Given the description of an element on the screen output the (x, y) to click on. 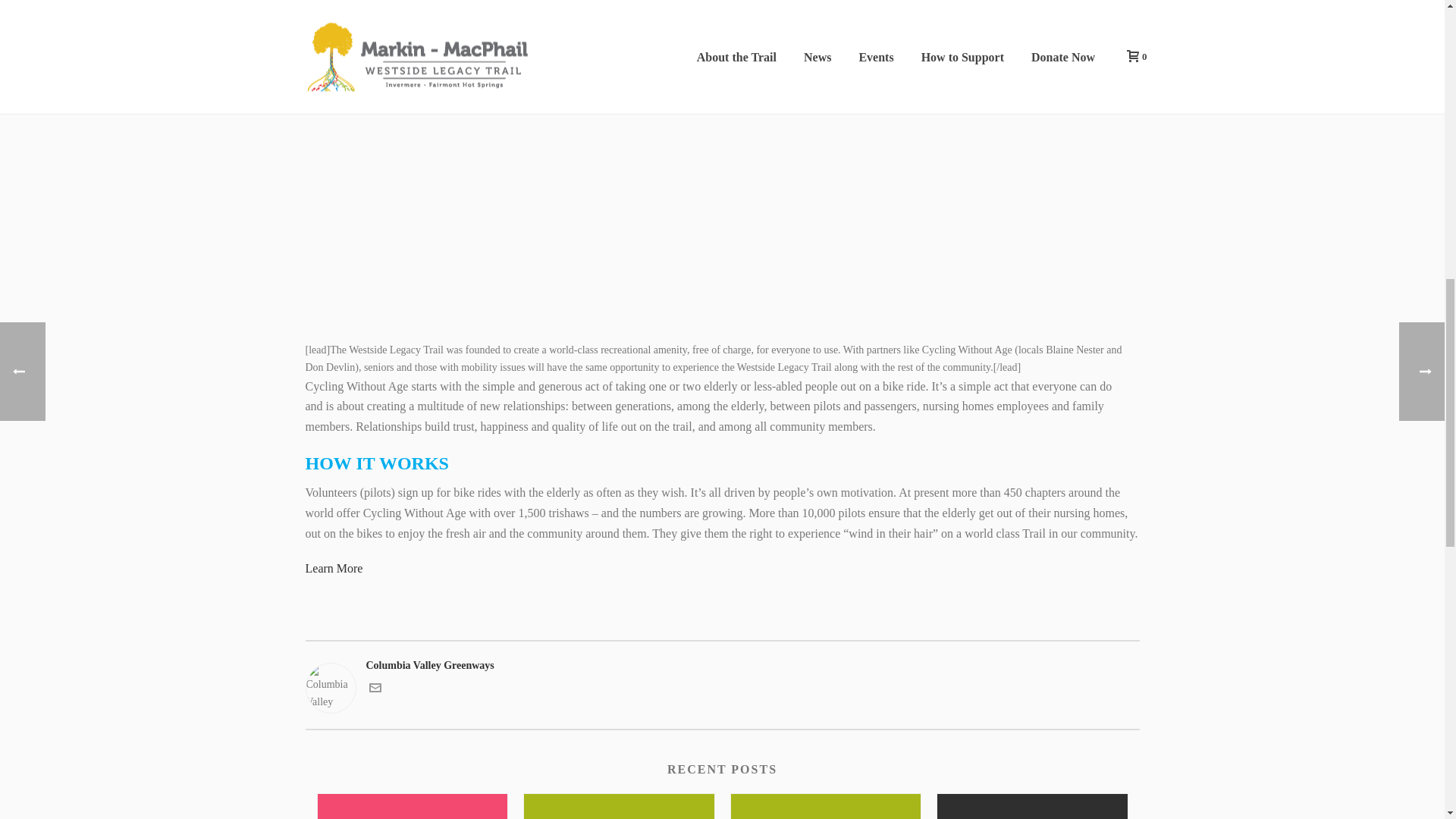
Get in touch with me via email (374, 690)
Columbia Valley Recreation Planning Initiative Online Survey (825, 806)
Fall Update And Giving Tuesday (1031, 806)
The Markin-MacPhail Westside Legacy Trail is Complete! (411, 806)
